Given the description of an element on the screen output the (x, y) to click on. 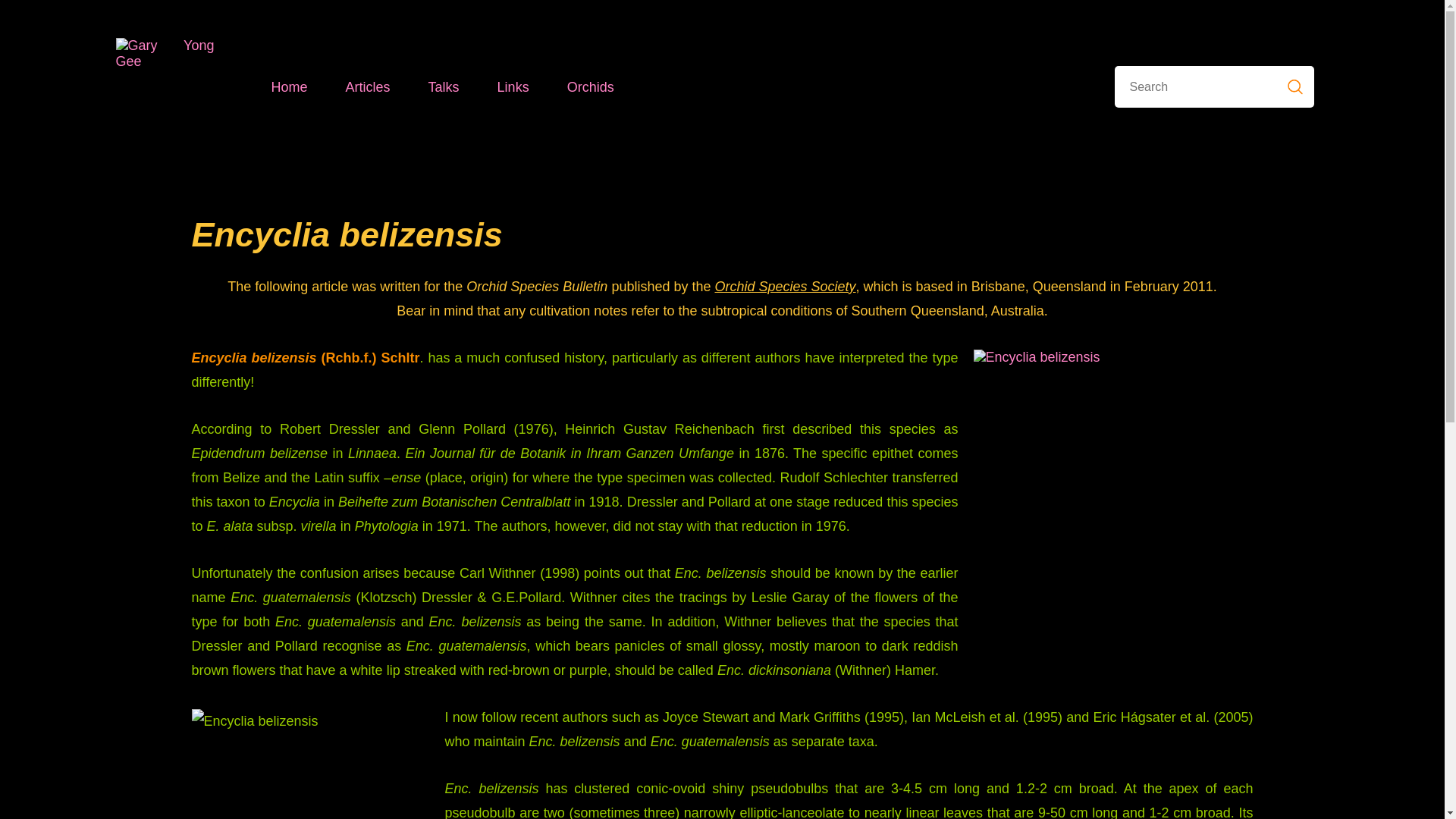
Orchids (590, 86)
Home (288, 86)
Talks (444, 86)
Links (513, 86)
Home (288, 86)
Orchids (590, 86)
Orchid Species Society (785, 286)
Articles (368, 86)
